Given the description of an element on the screen output the (x, y) to click on. 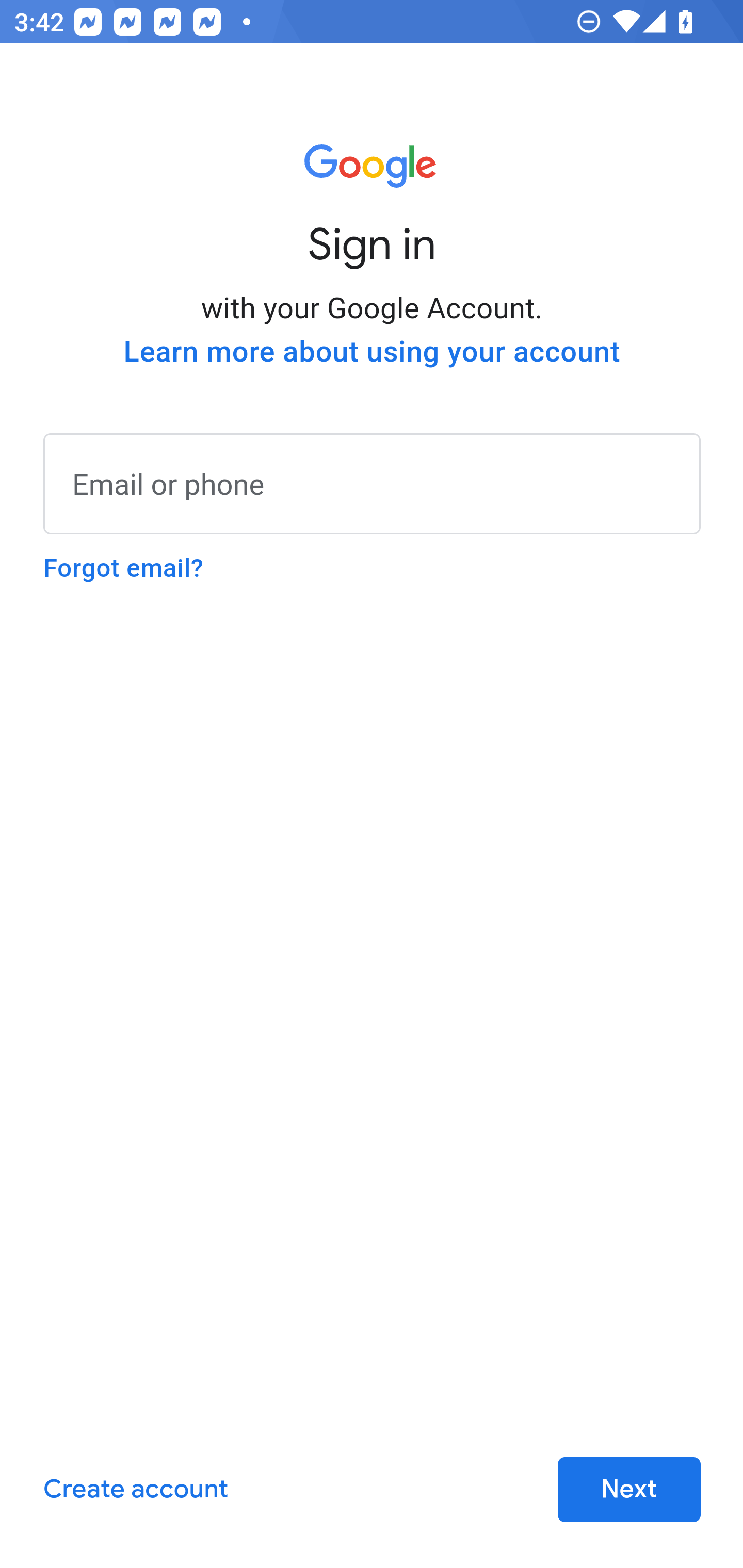
Learn more about using your account (371, 351)
Forgot email? (123, 568)
Create account (134, 1490)
Next (629, 1490)
